Given the description of an element on the screen output the (x, y) to click on. 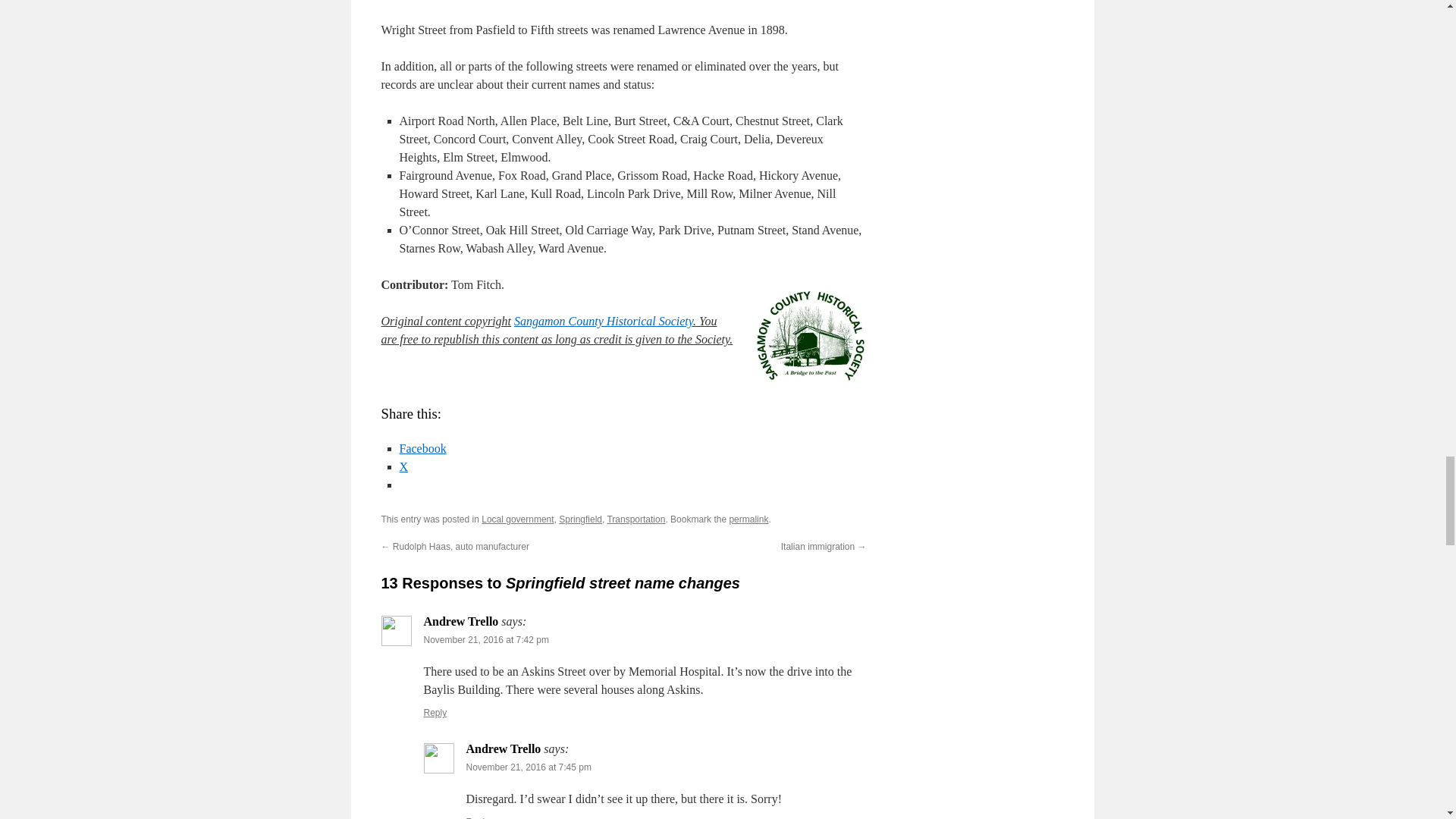
Reply (477, 817)
Reply (434, 712)
Local government (517, 519)
permalink (748, 519)
Transportation (636, 519)
Springfield (580, 519)
November 21, 2016 at 7:45 pm (528, 767)
November 21, 2016 at 7:42 pm (485, 639)
Facebook (421, 448)
Click to share on Facebook (421, 448)
